Given the description of an element on the screen output the (x, y) to click on. 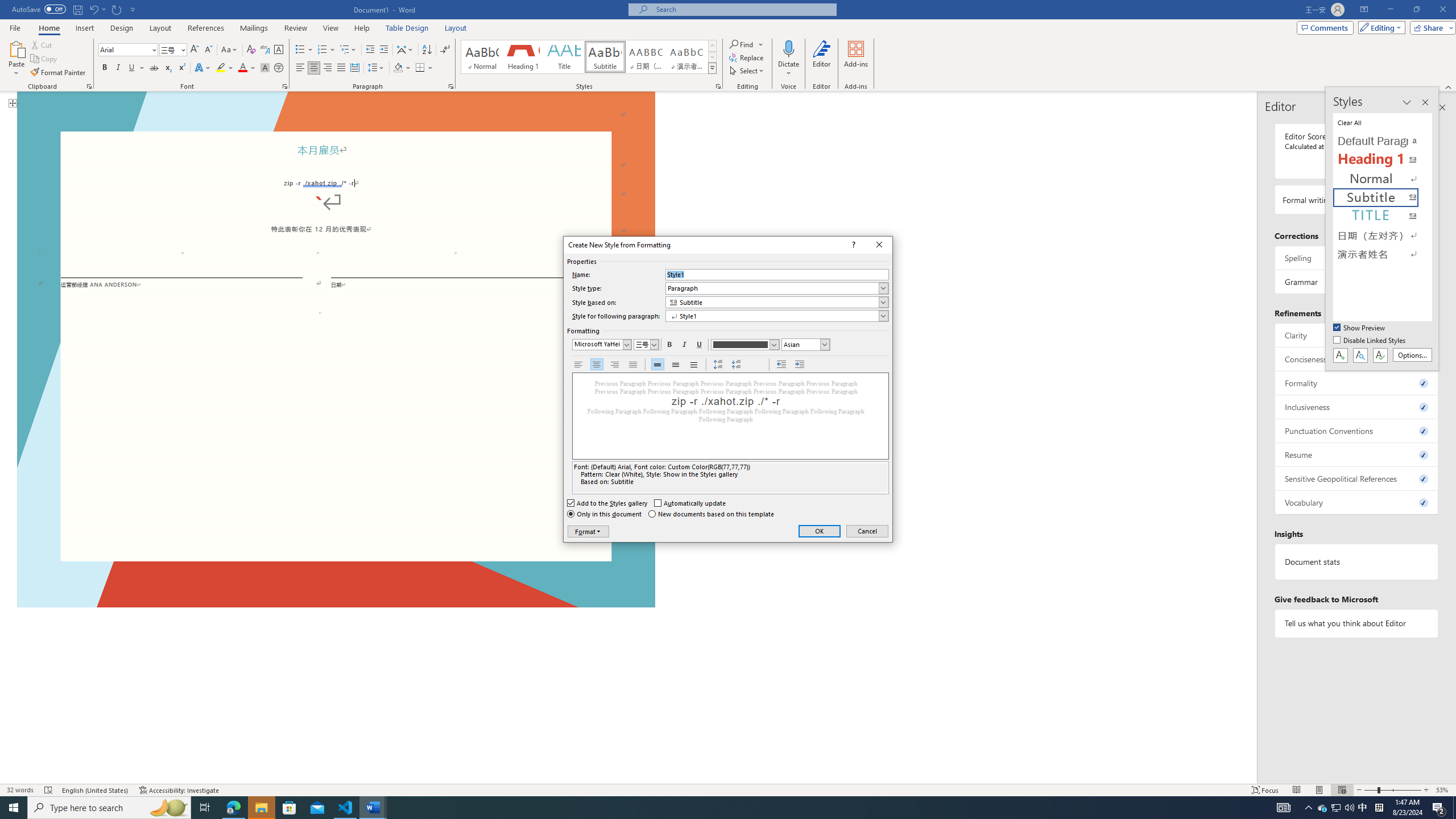
Format (588, 531)
Add to the Styles gallery (607, 502)
Normal (1382, 178)
Formality, 0 issues. Press space or enter to review items. (1356, 382)
